Given the description of an element on the screen output the (x, y) to click on. 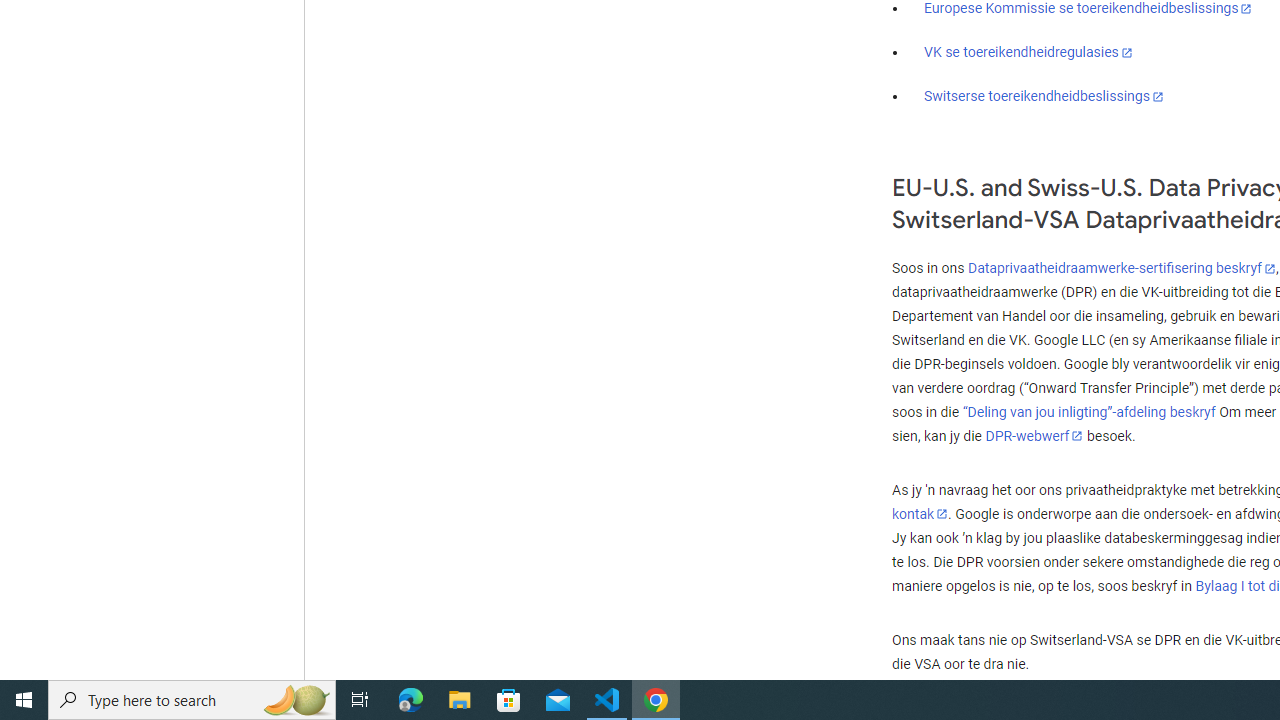
Switserse toereikendheidbeslissings (1043, 96)
Dataprivaatheidraamwerke-sertifisering beskryf (1121, 268)
DPR-webwerf (1034, 435)
VK se toereikendheidregulasies (1028, 52)
Europese Kommissie se toereikendheidbeslissings (1088, 9)
